Given the description of an element on the screen output the (x, y) to click on. 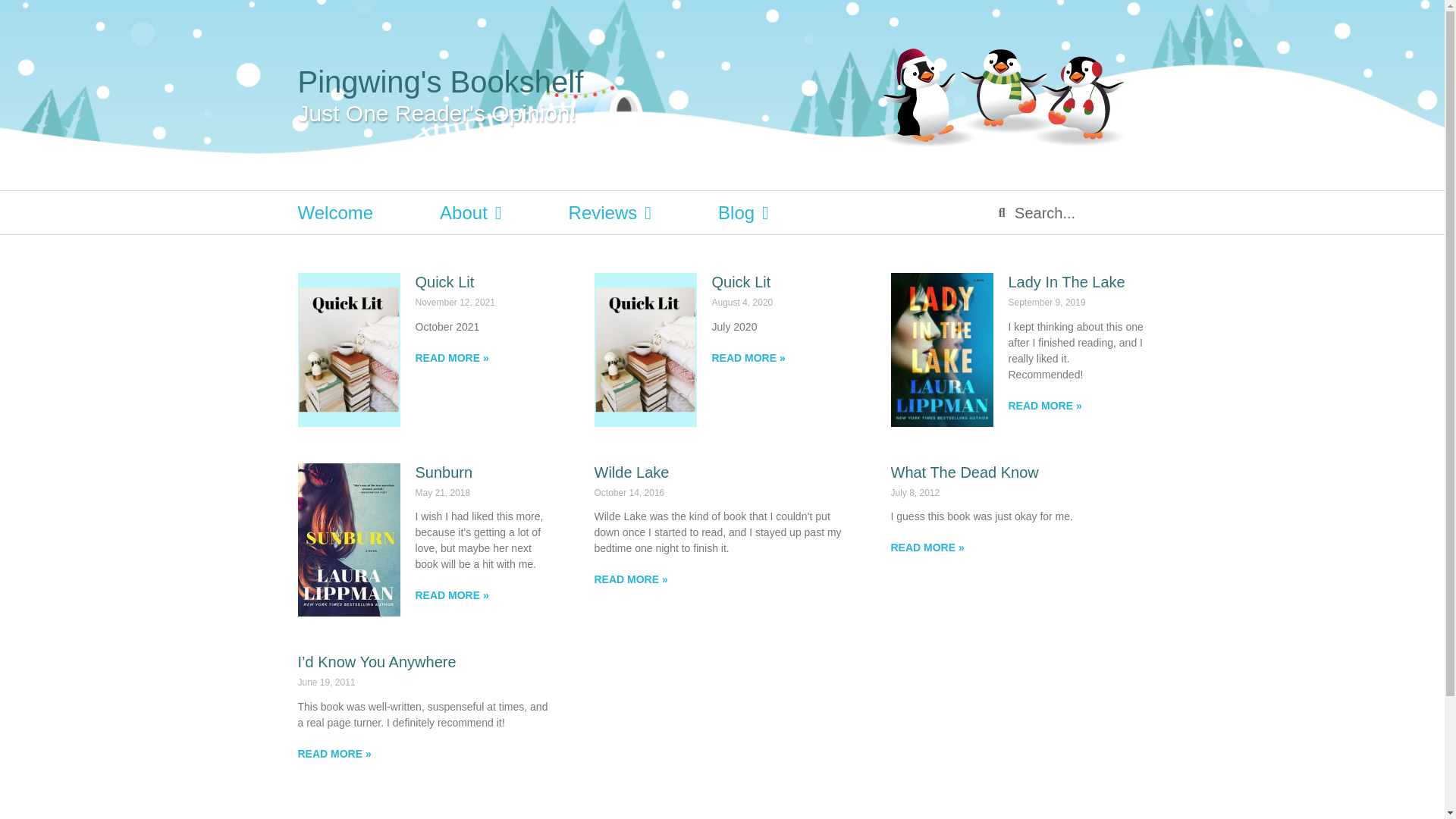
Blog (742, 212)
Welcome (334, 212)
Pingwing's Bookshelf (440, 81)
About (469, 212)
Reviews (609, 212)
